Given the description of an element on the screen output the (x, y) to click on. 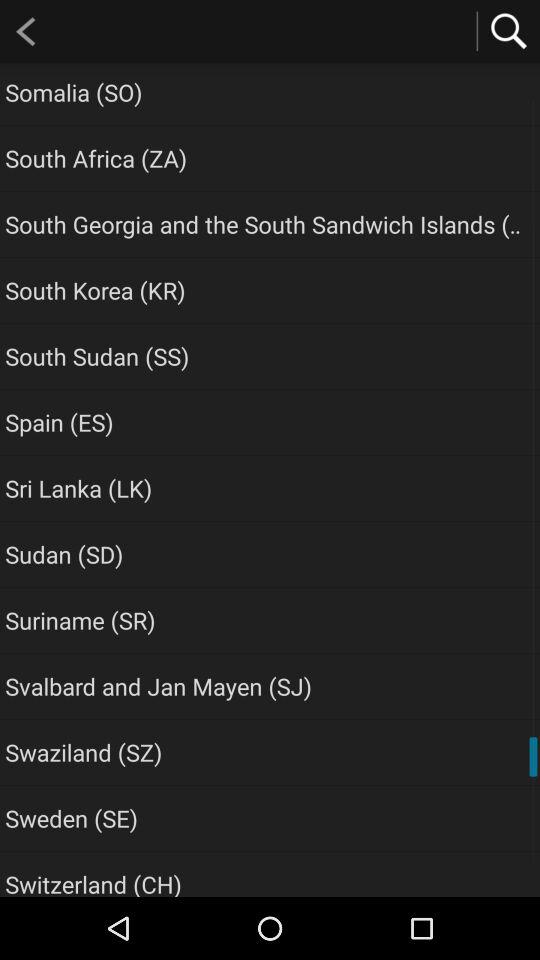
press south sudan (ss) (97, 356)
